Given the description of an element on the screen output the (x, y) to click on. 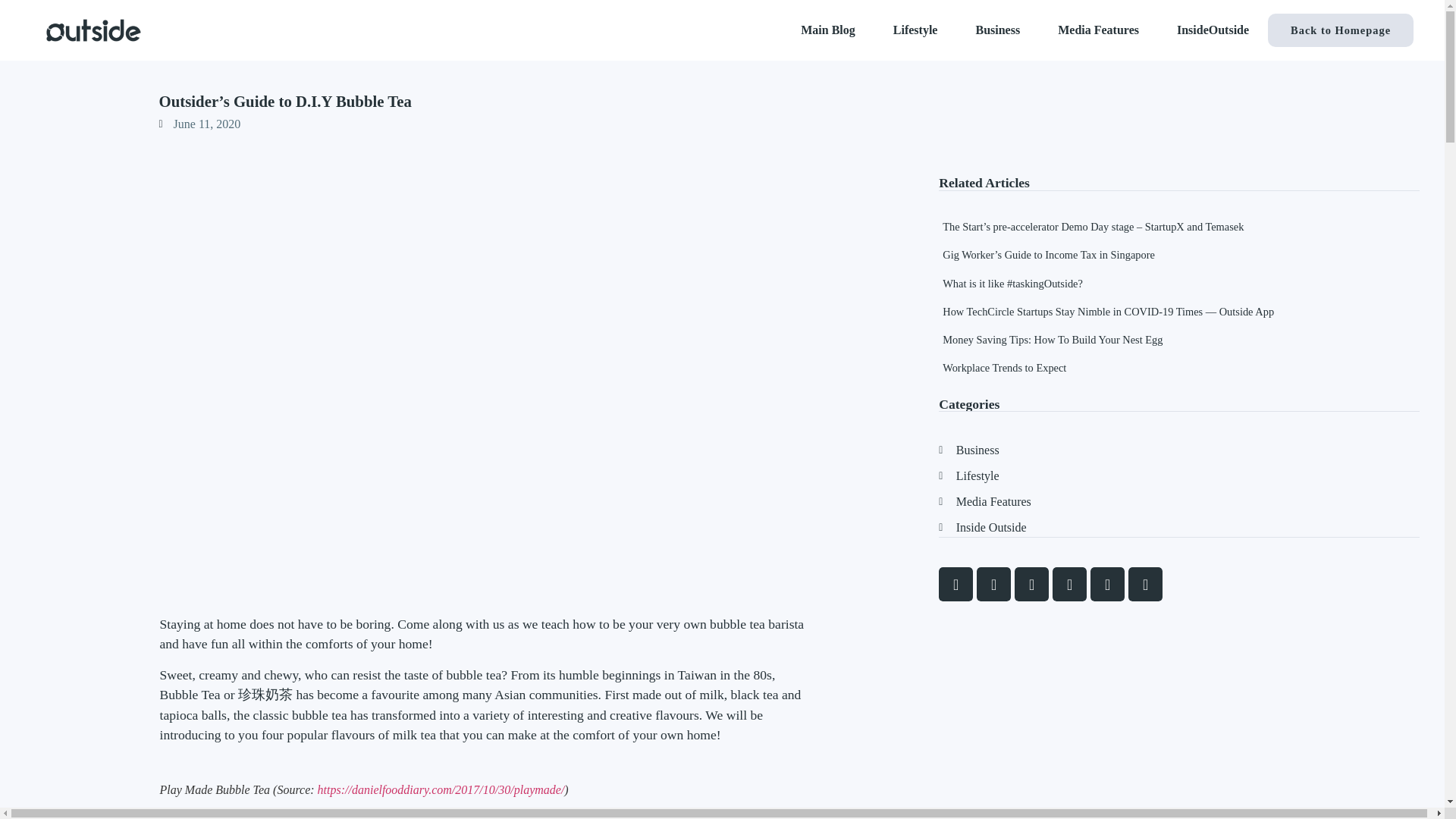
June 11, 2020 (199, 124)
Media Features (1098, 30)
Business (997, 30)
InsideOutside (1212, 30)
Back to Homepage (1340, 29)
Lifestyle (915, 30)
Money Saving Tips: How To Build Your Nest Egg (1051, 339)
Main Blog (828, 30)
